Given the description of an element on the screen output the (x, y) to click on. 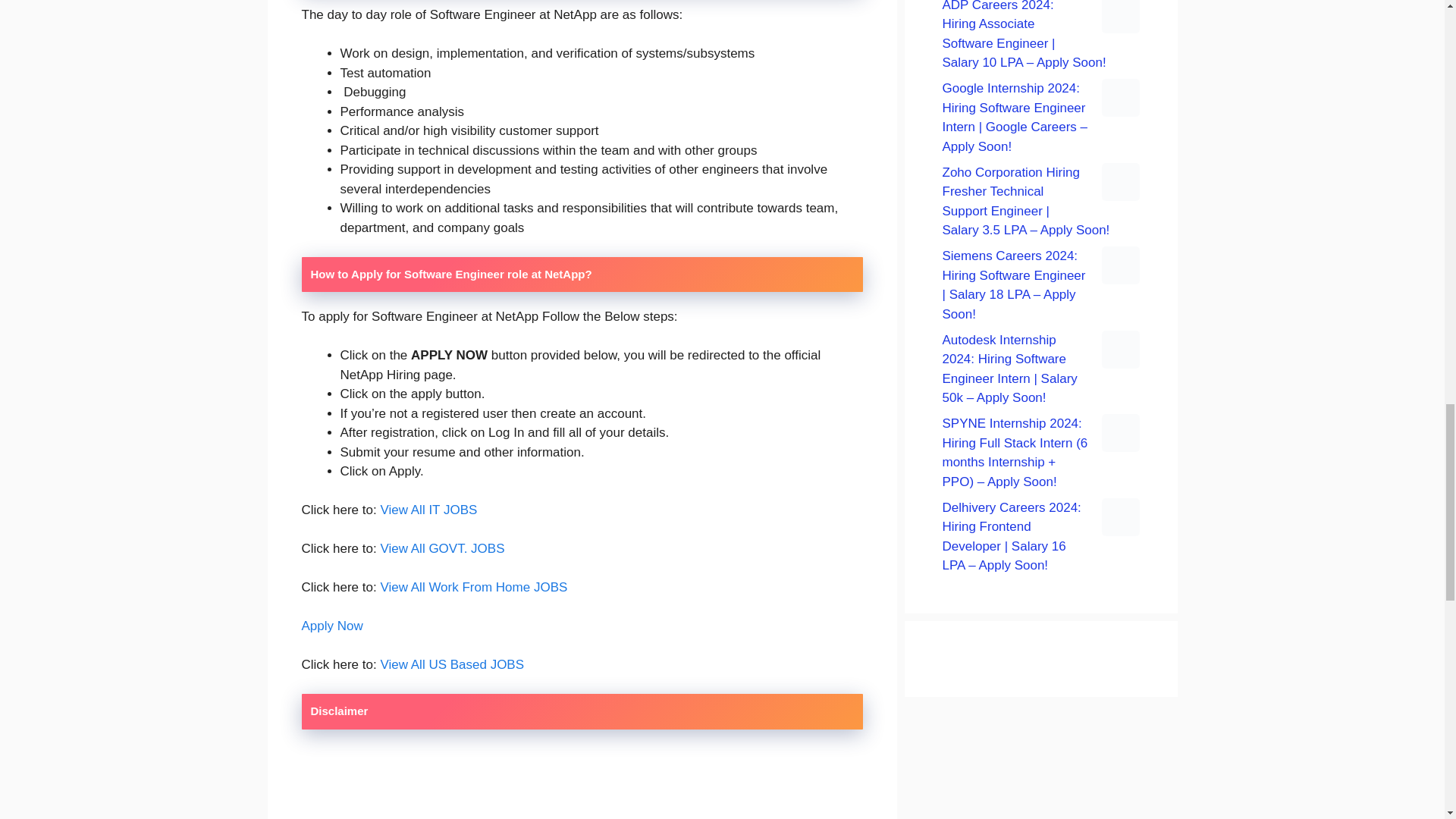
View All US Based JOBS (452, 664)
Apply Now (331, 626)
View All IT JOBS (428, 509)
View All GOVT. JOBS (441, 548)
View All Work From Home JOBS (473, 586)
